Given the description of an element on the screen output the (x, y) to click on. 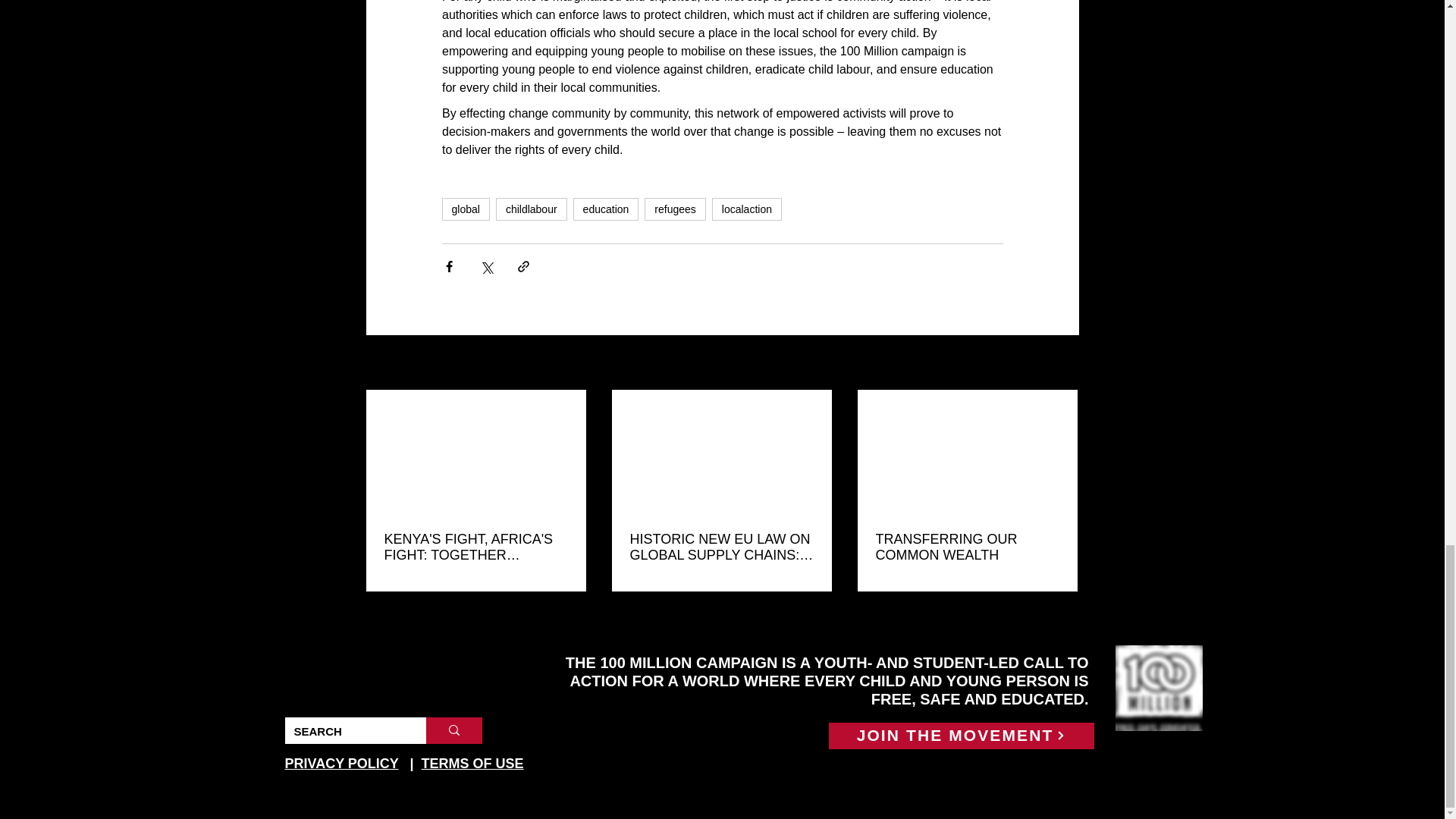
education (606, 209)
refugees (674, 209)
PRIVACY POLICY (341, 763)
localaction (746, 209)
See All (1061, 363)
global (465, 209)
TRANSFERRING OUR COMMON WEALTH (966, 547)
JOIN THE MOVEMENT (960, 735)
childlabour (531, 209)
